Given the description of an element on the screen output the (x, y) to click on. 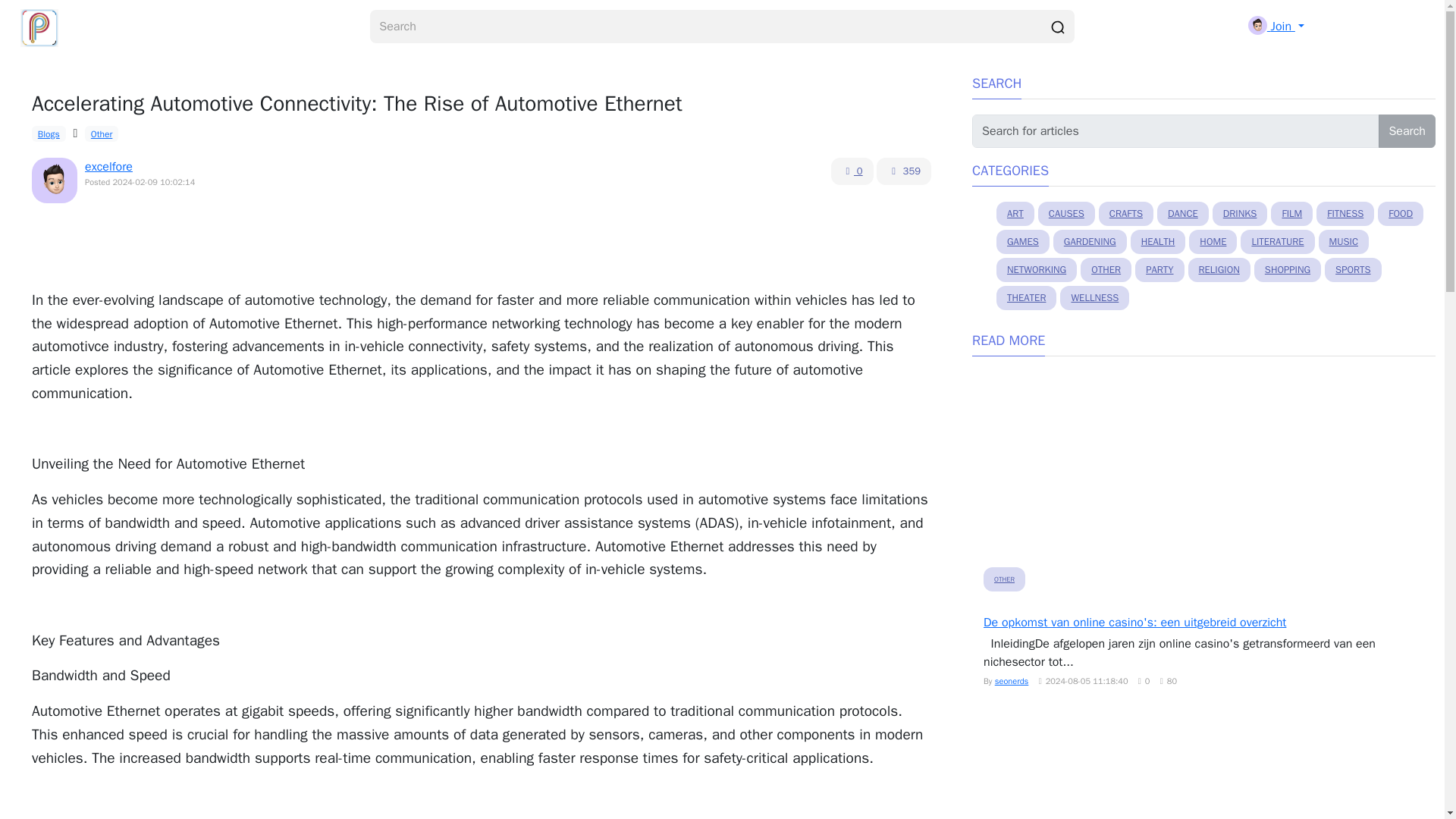
DANCE (1182, 213)
FILM (1292, 213)
NETWORKING (1036, 269)
DRINKS (1240, 213)
Blogs (48, 133)
OTHER (1105, 269)
MUSIC (1343, 241)
GAMES (1022, 241)
CRAFTS (1126, 213)
HOME (1212, 241)
